Given the description of an element on the screen output the (x, y) to click on. 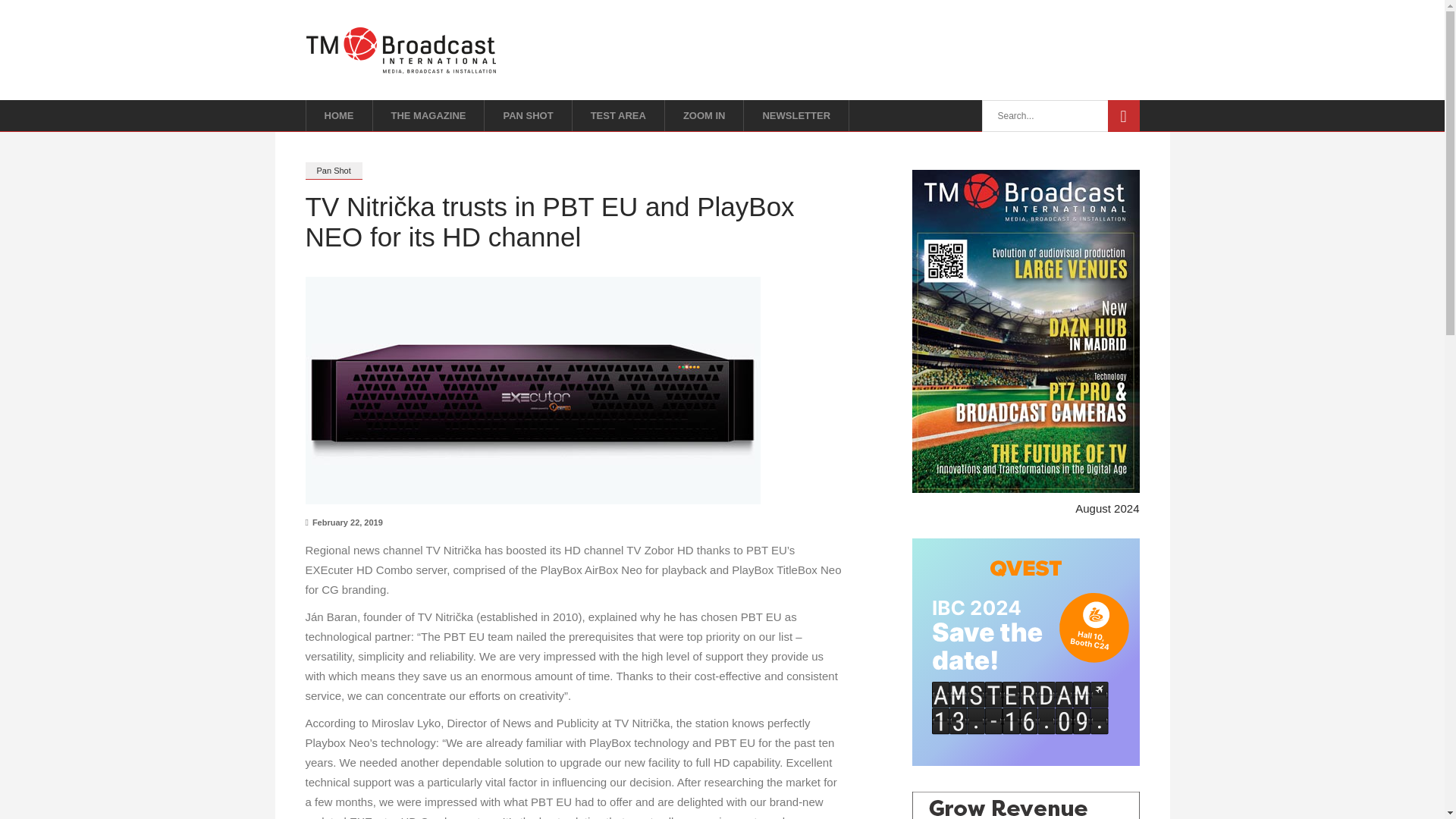
February 22, 2019 (342, 522)
THE MAGAZINE (428, 115)
ZOOM IN (704, 115)
TEST AREA (618, 115)
Pan Shot (332, 170)
NEWSLETTER (796, 115)
August 2024 (1106, 508)
PAN SHOT (528, 115)
Search (1122, 115)
HOME (338, 115)
